Given the description of an element on the screen output the (x, y) to click on. 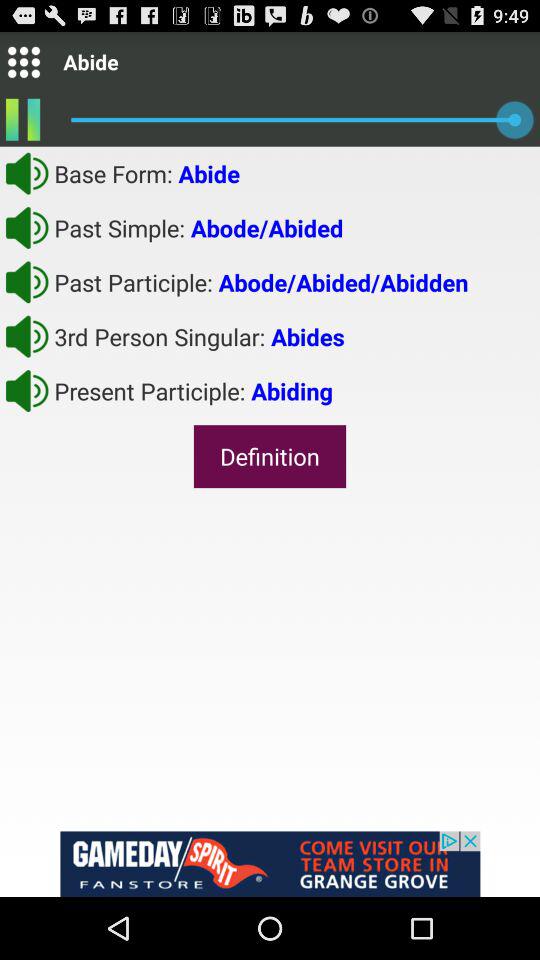
for adverisment (270, 864)
